Given the description of an element on the screen output the (x, y) to click on. 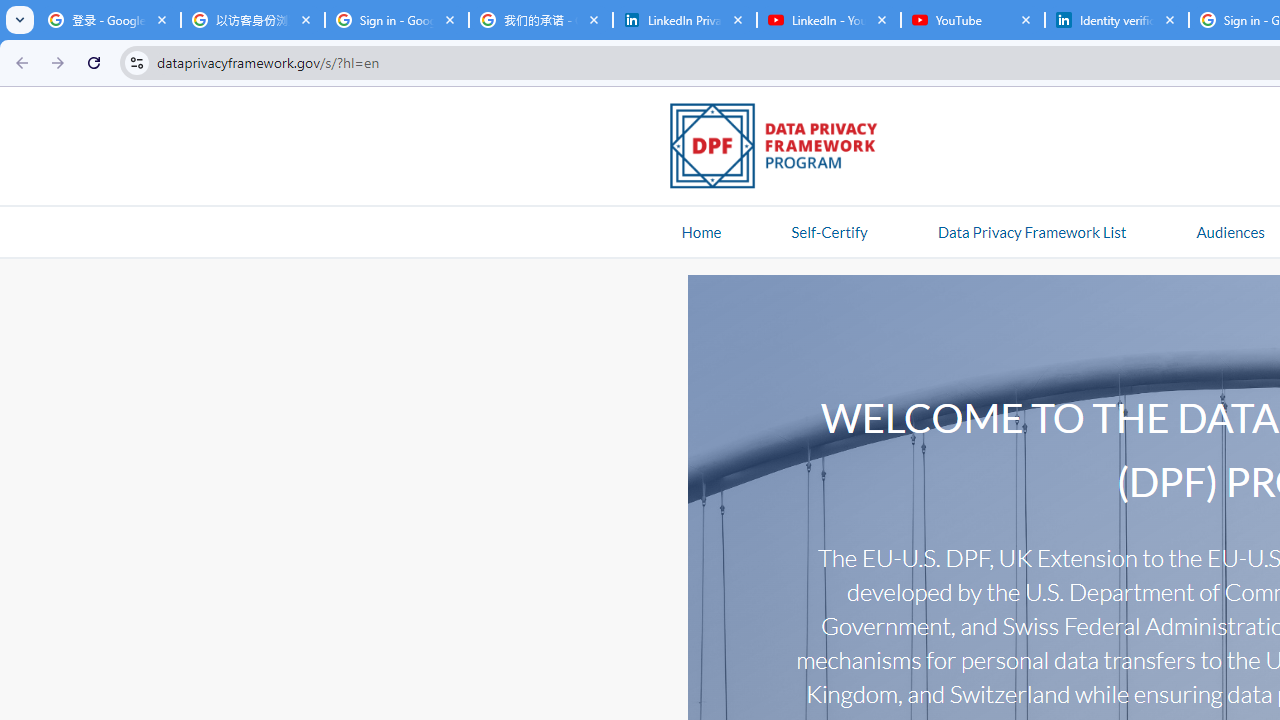
LinkedIn Privacy Policy (684, 20)
Data Privacy Framework List (1031, 231)
Sign in - Google Accounts (396, 20)
YouTube (972, 20)
